Given the description of an element on the screen output the (x, y) to click on. 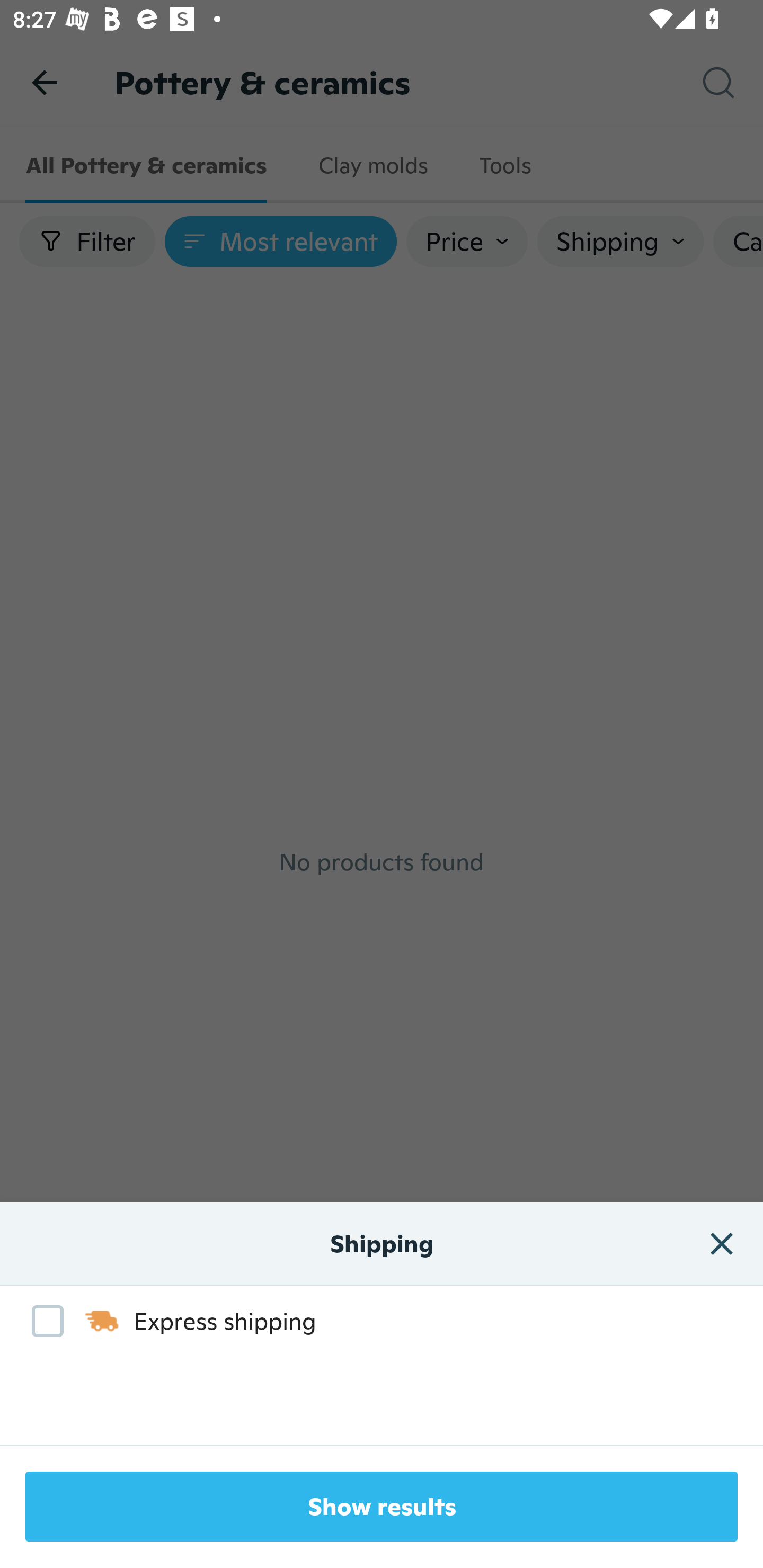
Express shipping (164, 1320)
Show results (381, 1506)
